Given the description of an element on the screen output the (x, y) to click on. 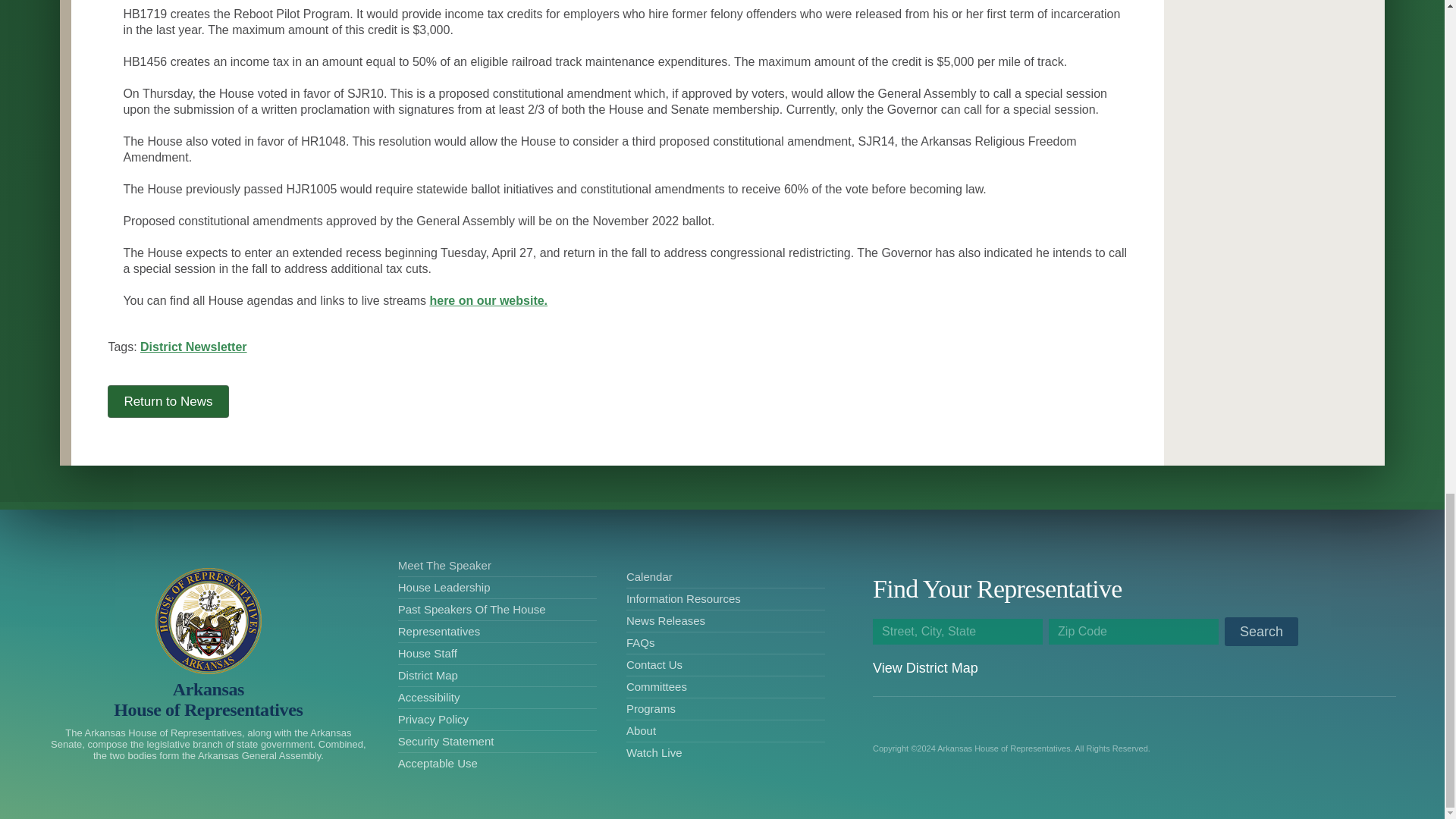
View District Map (925, 667)
Back to News (167, 400)
here on our website. (488, 300)
District Newsletter (193, 346)
Return to News (167, 400)
